Given the description of an element on the screen output the (x, y) to click on. 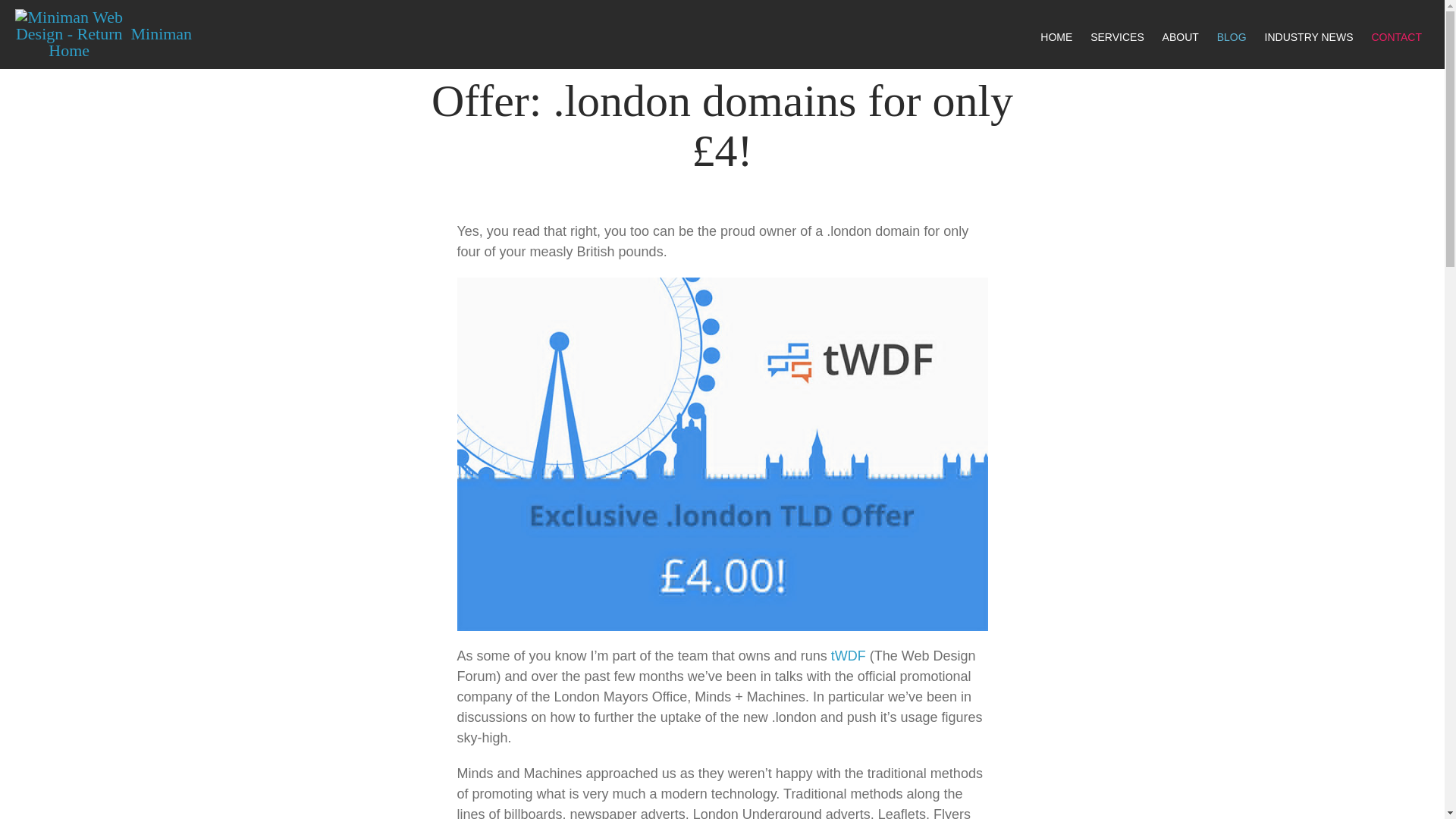
tWDF (848, 655)
INDUSTRY NEWS (1309, 36)
CONTACT (1396, 36)
BLOG (1231, 36)
